Given the description of an element on the screen output the (x, y) to click on. 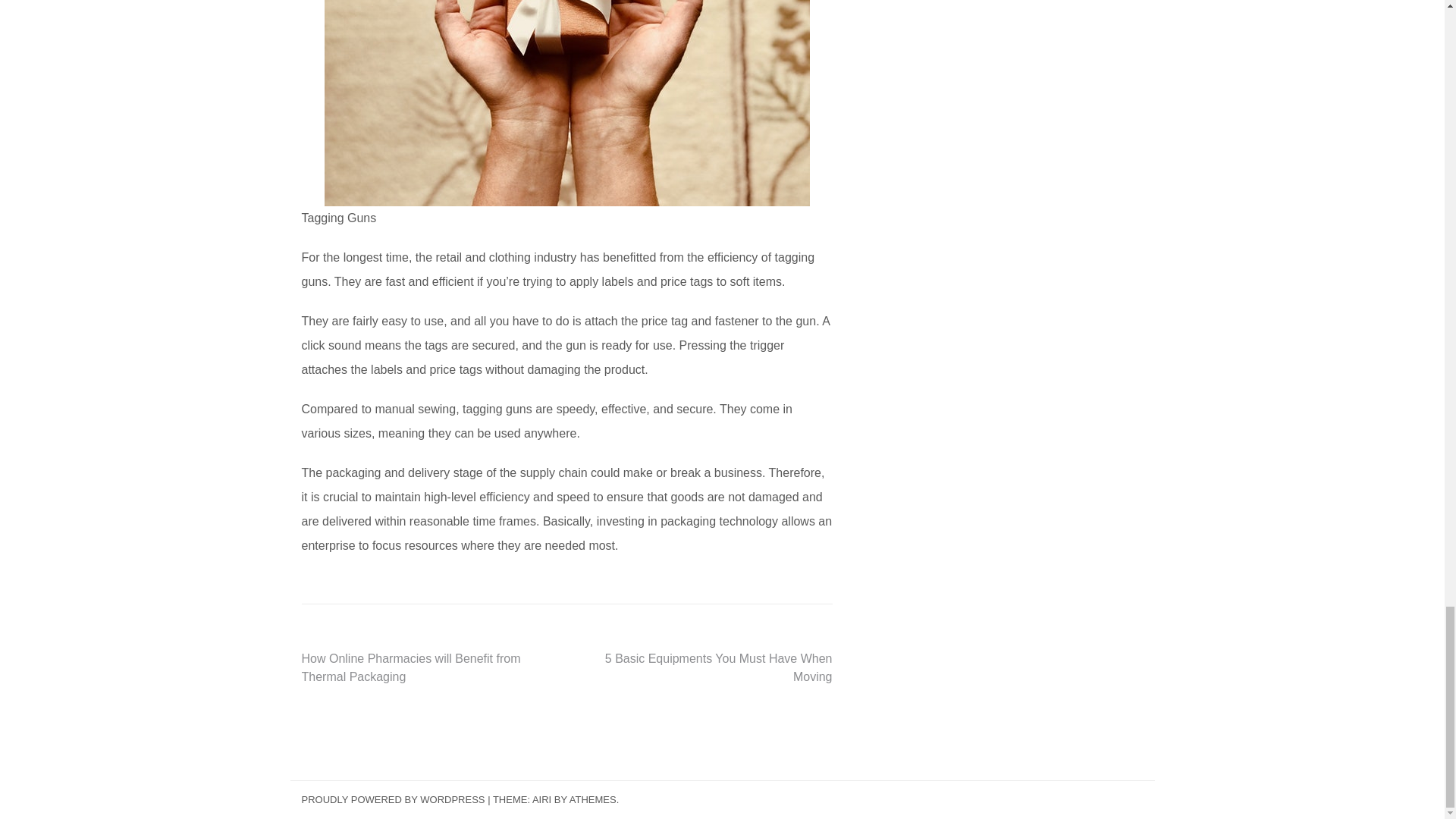
5 Basic Equipments You Must Have When Moving (718, 667)
PROUDLY POWERED BY WORDPRESS (392, 799)
How Online Pharmacies will Benefit from Thermal Packaging (411, 667)
AIRI (541, 799)
